Given the description of an element on the screen output the (x, y) to click on. 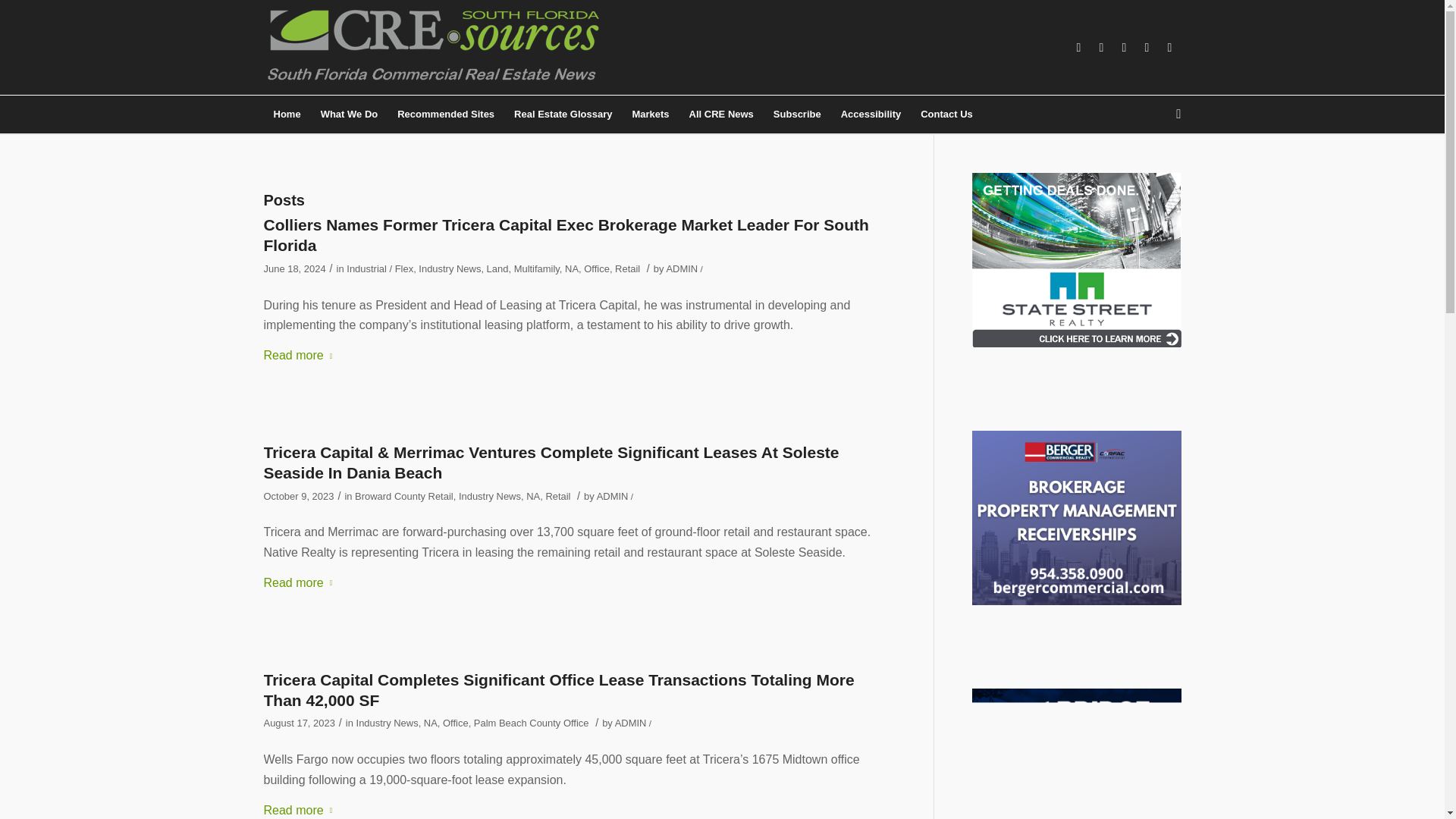
LinkedIn (1101, 47)
What We Do (349, 114)
Commercial Real Estate Terms and Definitions (562, 114)
Markets (649, 114)
Home (287, 114)
CRE-sources Markets (649, 114)
CRE-sources Recommended Sites (445, 114)
Real Estate Glossary (562, 114)
Recommended Sites (445, 114)
Twitter (1146, 47)
Instagram (1124, 47)
Facebook (1078, 47)
Mail (1169, 47)
All CRE News (720, 114)
What We Do At CRE-sources (349, 114)
